Given the description of an element on the screen output the (x, y) to click on. 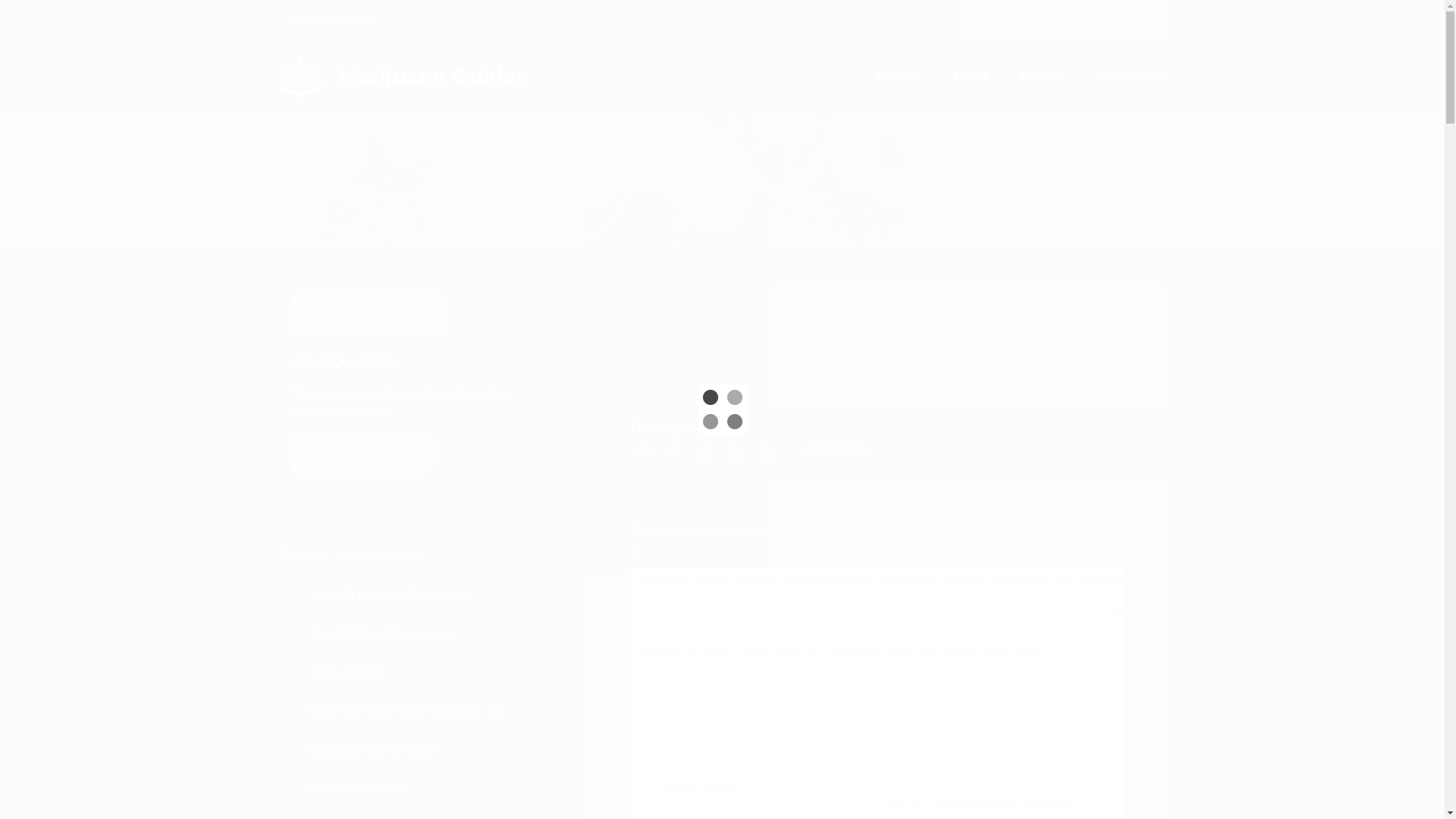
Marijuana Guides (404, 83)
Marijuana Guides Home (404, 74)
Strain Finder (1063, 18)
Cannabis Ecosystem Open Beta 08.04 (352, 19)
Find Your Perfect Strain (1063, 18)
